Given the description of an element on the screen output the (x, y) to click on. 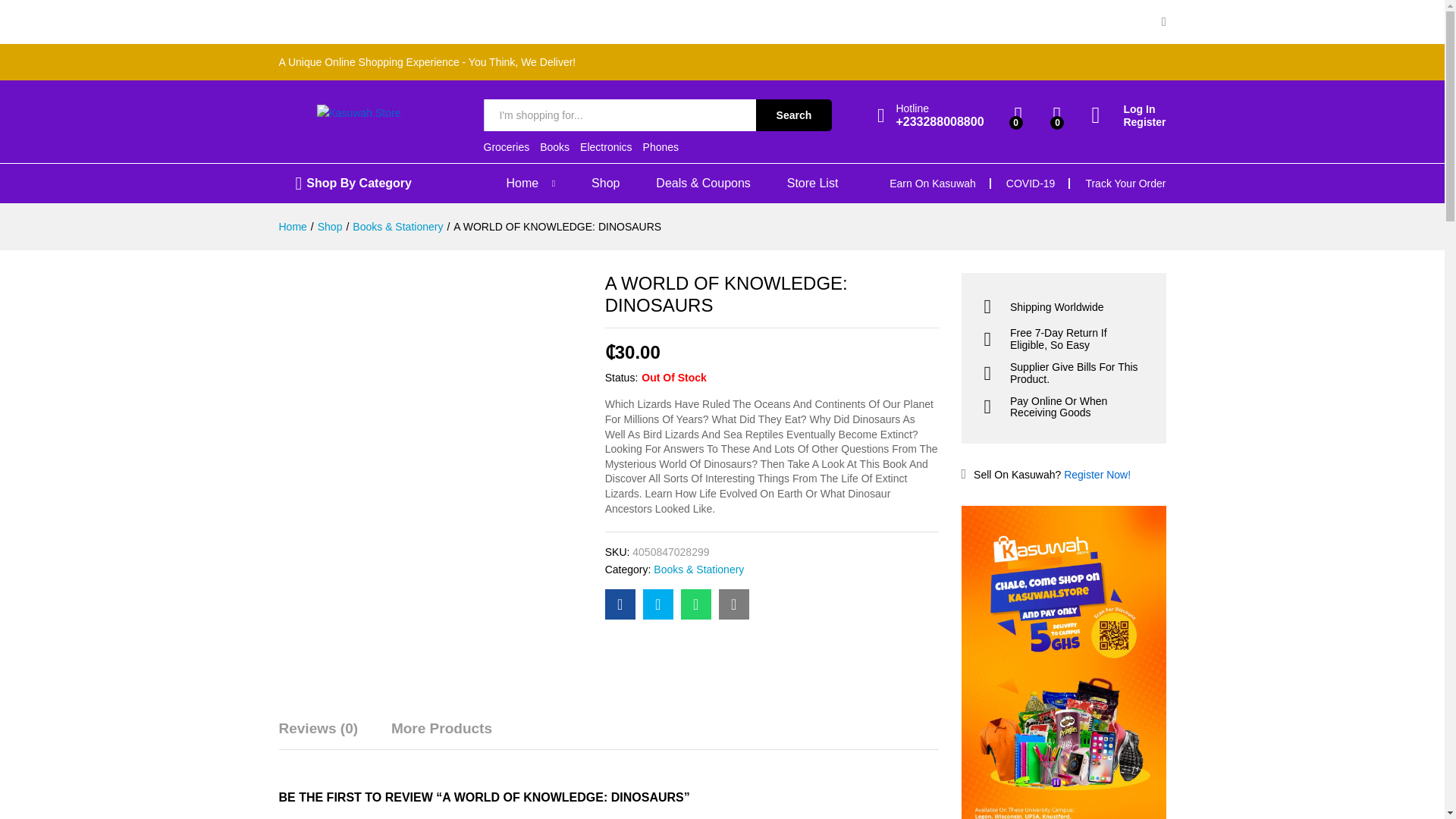
A WORLD OF KNOWLEDGE: DINOSAURS (696, 603)
A WORLD OF KNOWLEDGE: DINOSAURS (619, 603)
A WORLD OF KNOWLEDGE: DINOSAURS (734, 603)
